Given the description of an element on the screen output the (x, y) to click on. 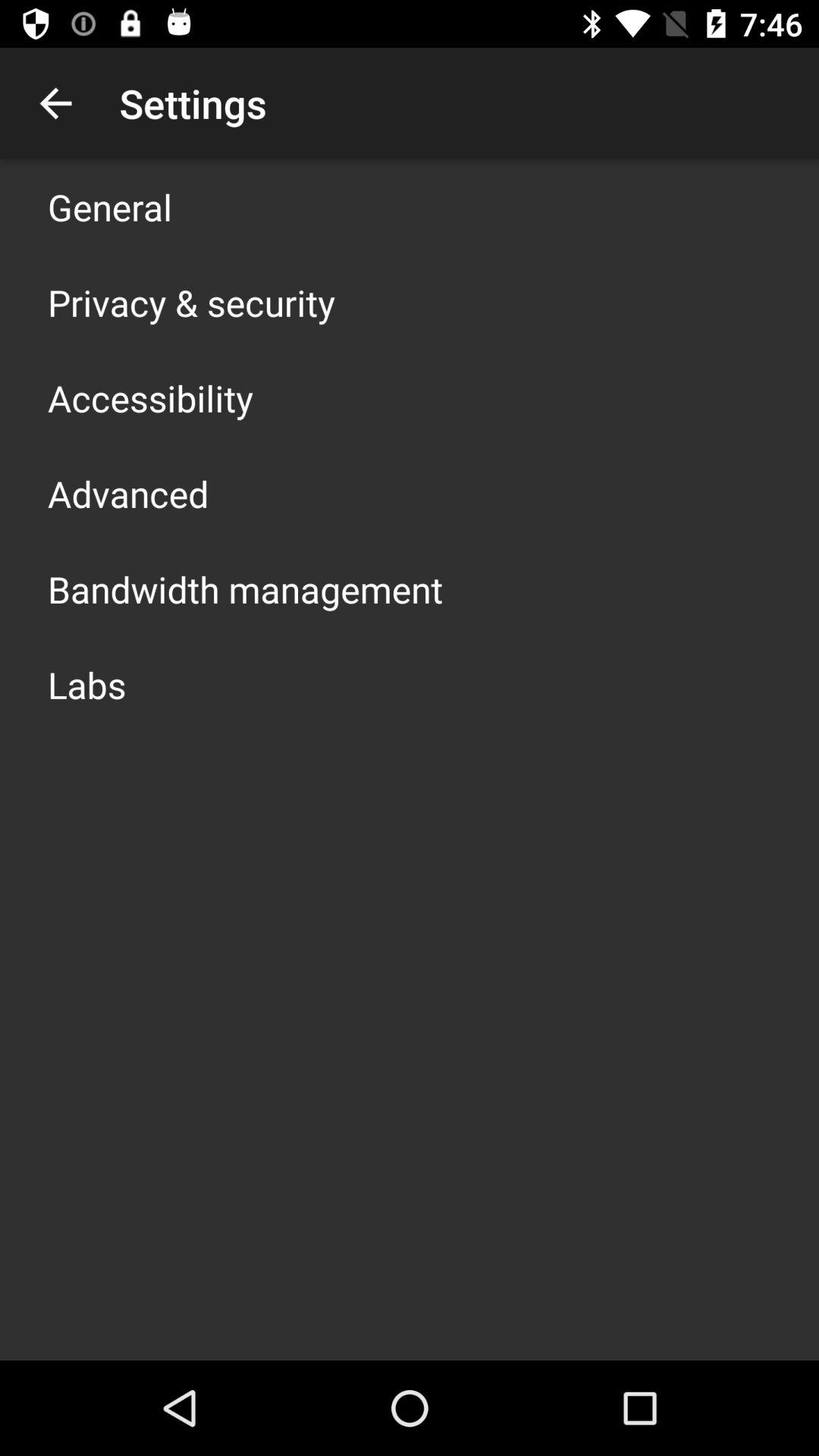
turn off app above the accessibility icon (190, 302)
